Given the description of an element on the screen output the (x, y) to click on. 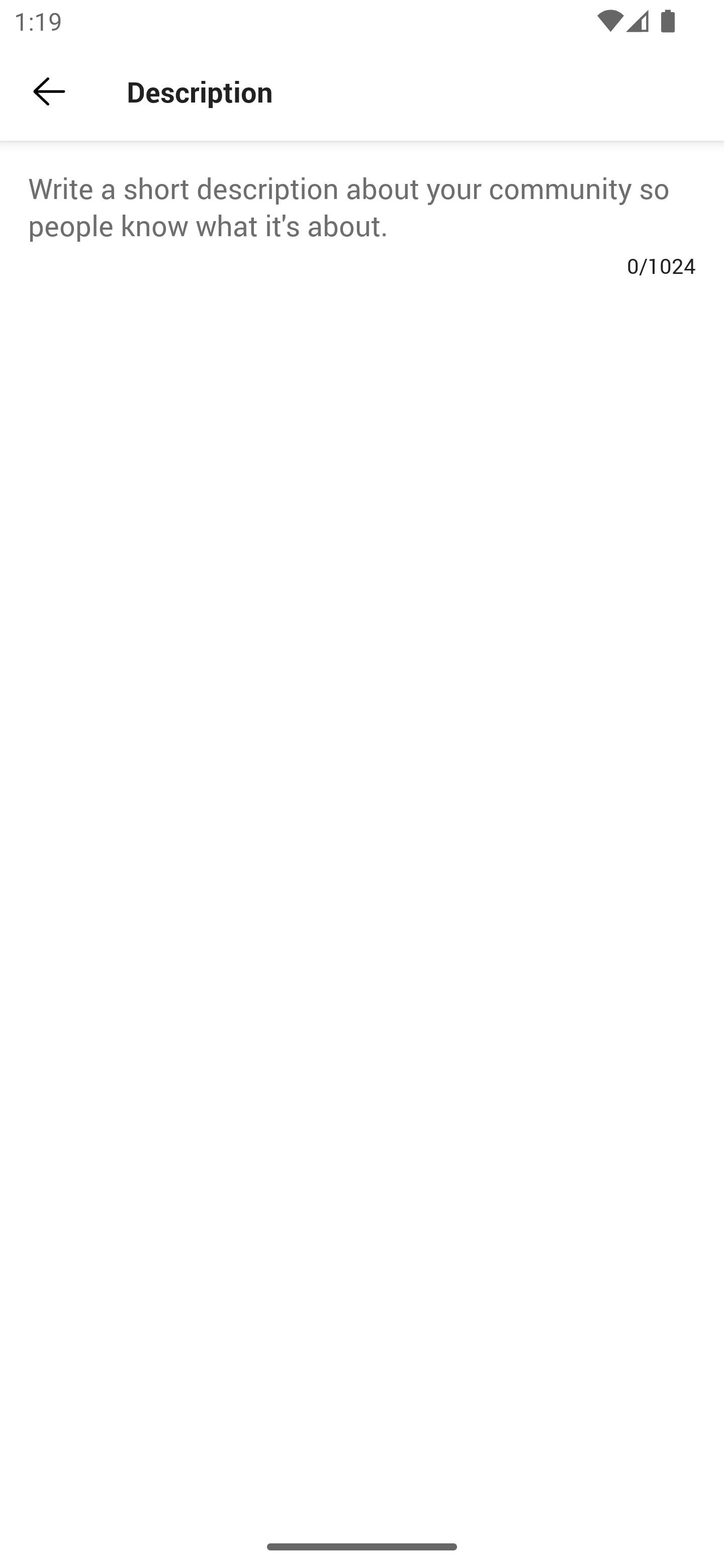
Back (49, 91)
